Given the description of an element on the screen output the (x, y) to click on. 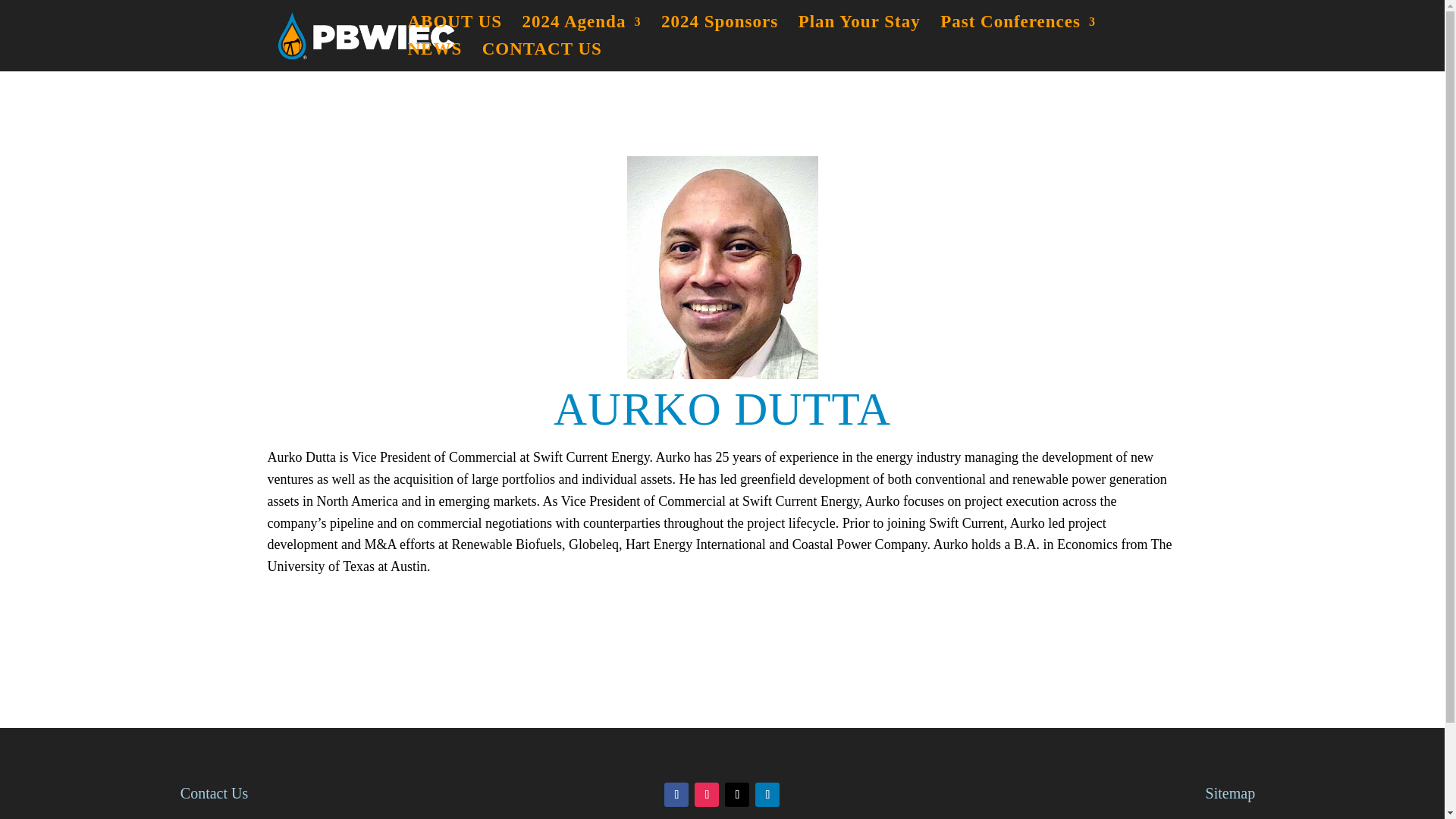
CONTACT US (541, 57)
Follow on Facebook (675, 794)
Follow on LinkedIn (766, 794)
Sitemap (1230, 792)
NEWS (435, 57)
Contact Us (213, 792)
Aurko Dutta Photo (721, 267)
Plan Your Stay (858, 30)
ABOUT US (454, 30)
2024 Agenda (582, 30)
2024 Sponsors (719, 30)
Follow on X (737, 794)
Follow on Instagram (706, 794)
Past Conferences (1018, 30)
